Given the description of an element on the screen output the (x, y) to click on. 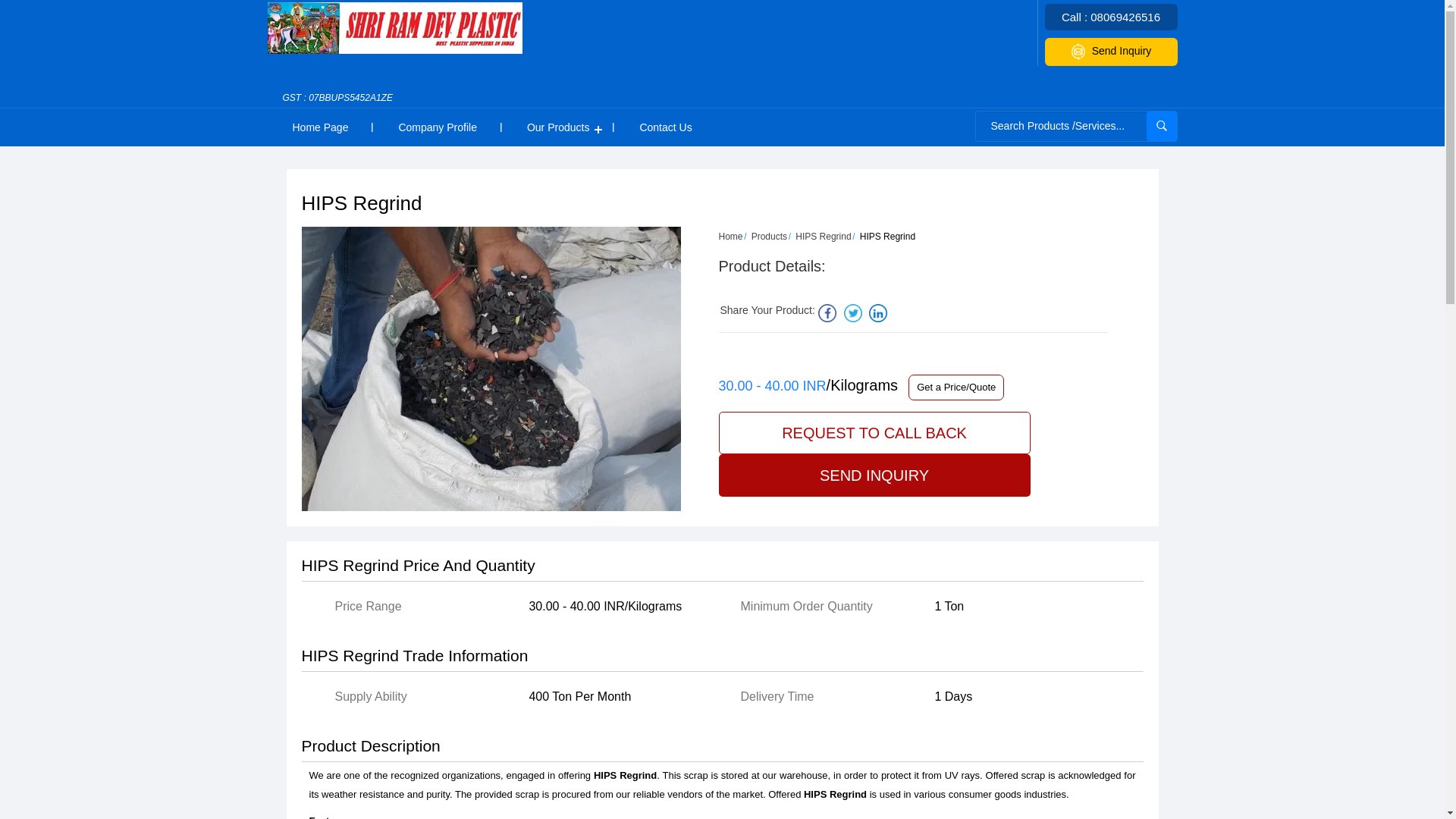
Contact Us (665, 127)
REQUEST TO CALL BACK (874, 432)
SEND INQUIRY (874, 475)
Home (730, 235)
Products (769, 235)
Home Page (319, 127)
HIPS Regrind (822, 235)
GST : 07BBUPS5452A1ZE (337, 104)
Send Inquiry (1111, 51)
submit (1161, 125)
